Given the description of an element on the screen output the (x, y) to click on. 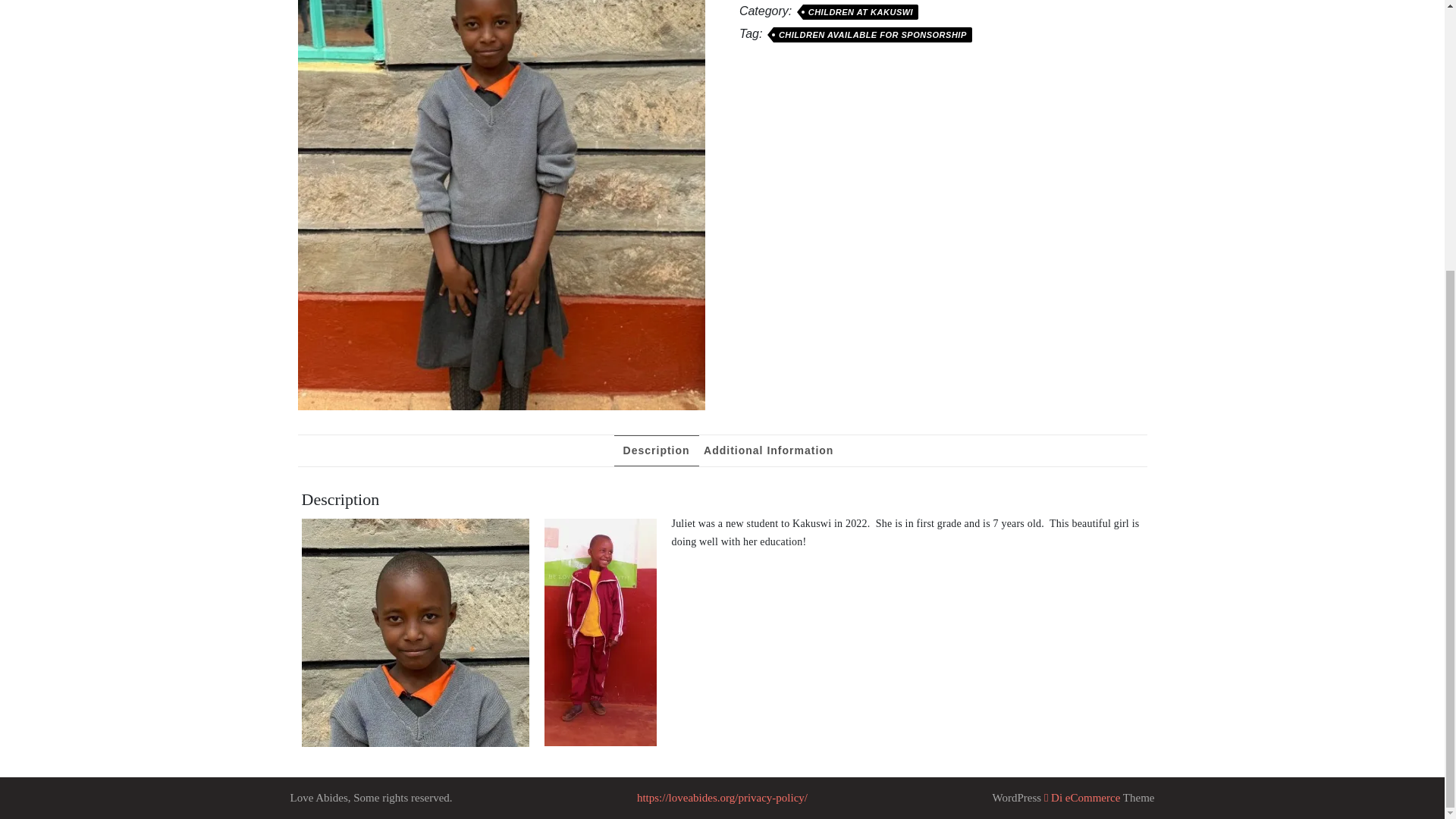
Description (656, 450)
Additional Information (767, 450)
CHILDREN AT KAKUSWI (860, 11)
Di eCommerce (1081, 797)
CHILDREN AVAILABLE FOR SPONSORSHIP (872, 34)
